Given the description of an element on the screen output the (x, y) to click on. 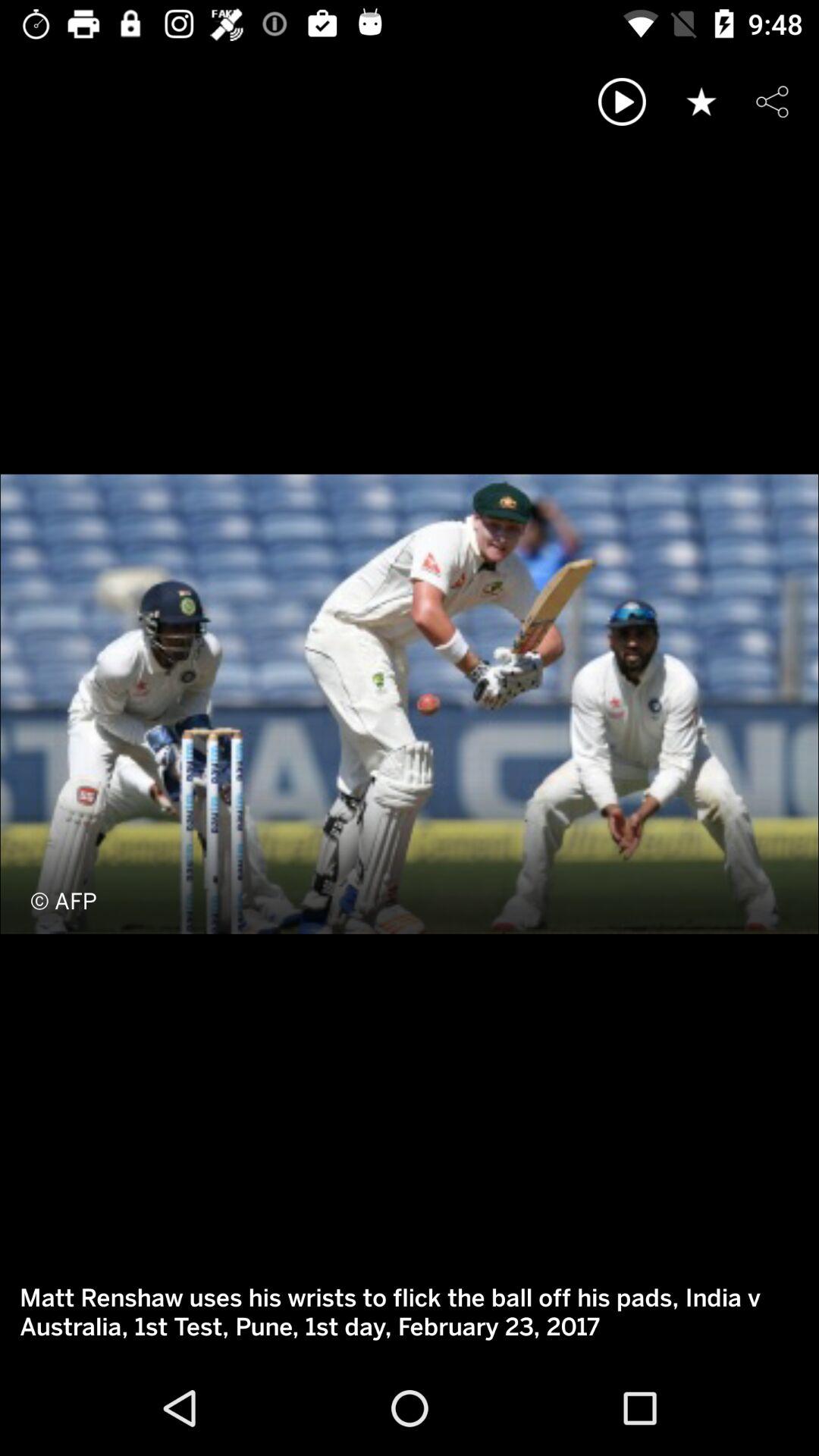
click to like (701, 101)
